Given the description of an element on the screen output the (x, y) to click on. 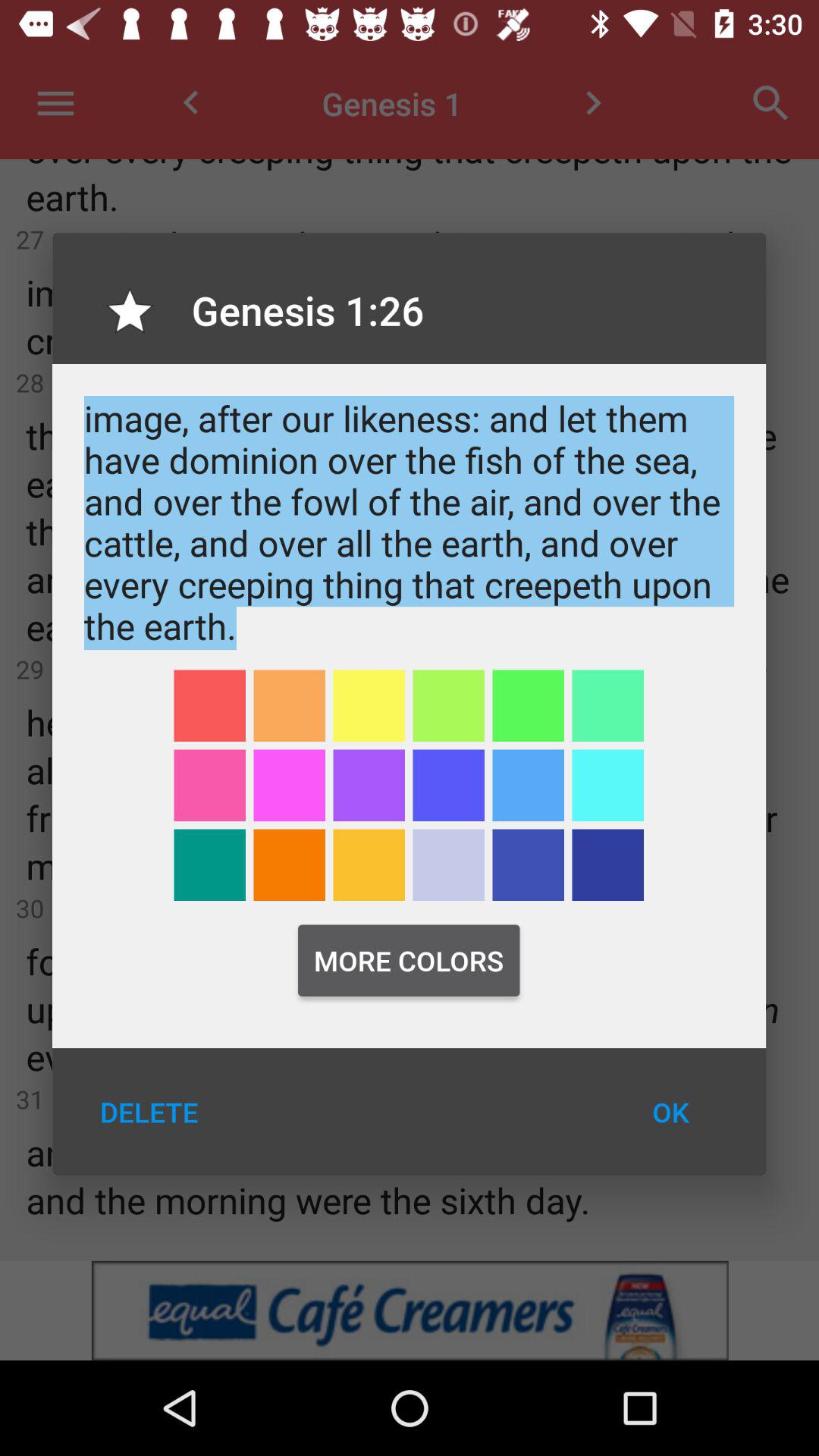
select the item to the right of delete (670, 1111)
